Given the description of an element on the screen output the (x, y) to click on. 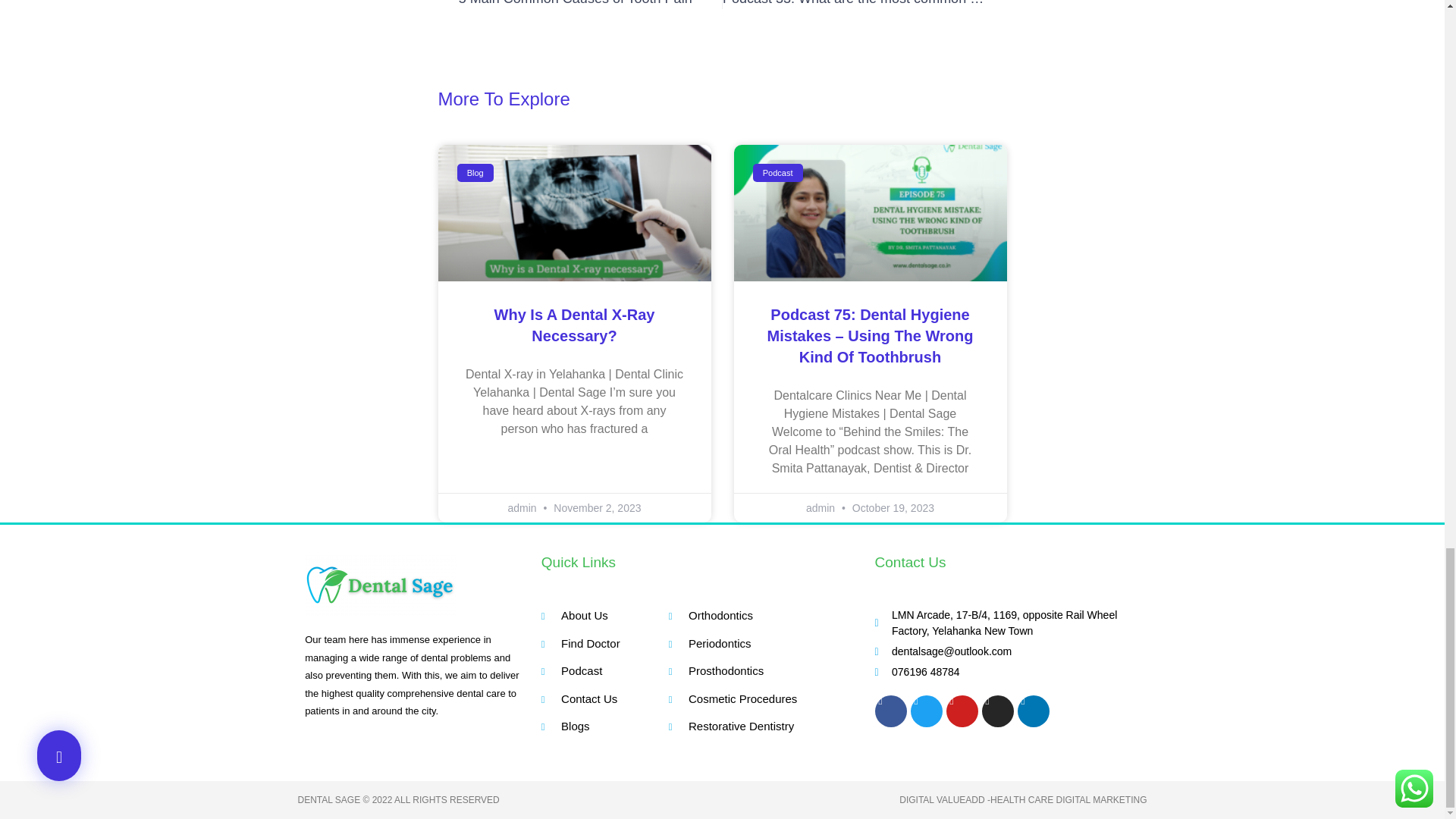
Dental Sage Logo (380, 585)
